Given the description of an element on the screen output the (x, y) to click on. 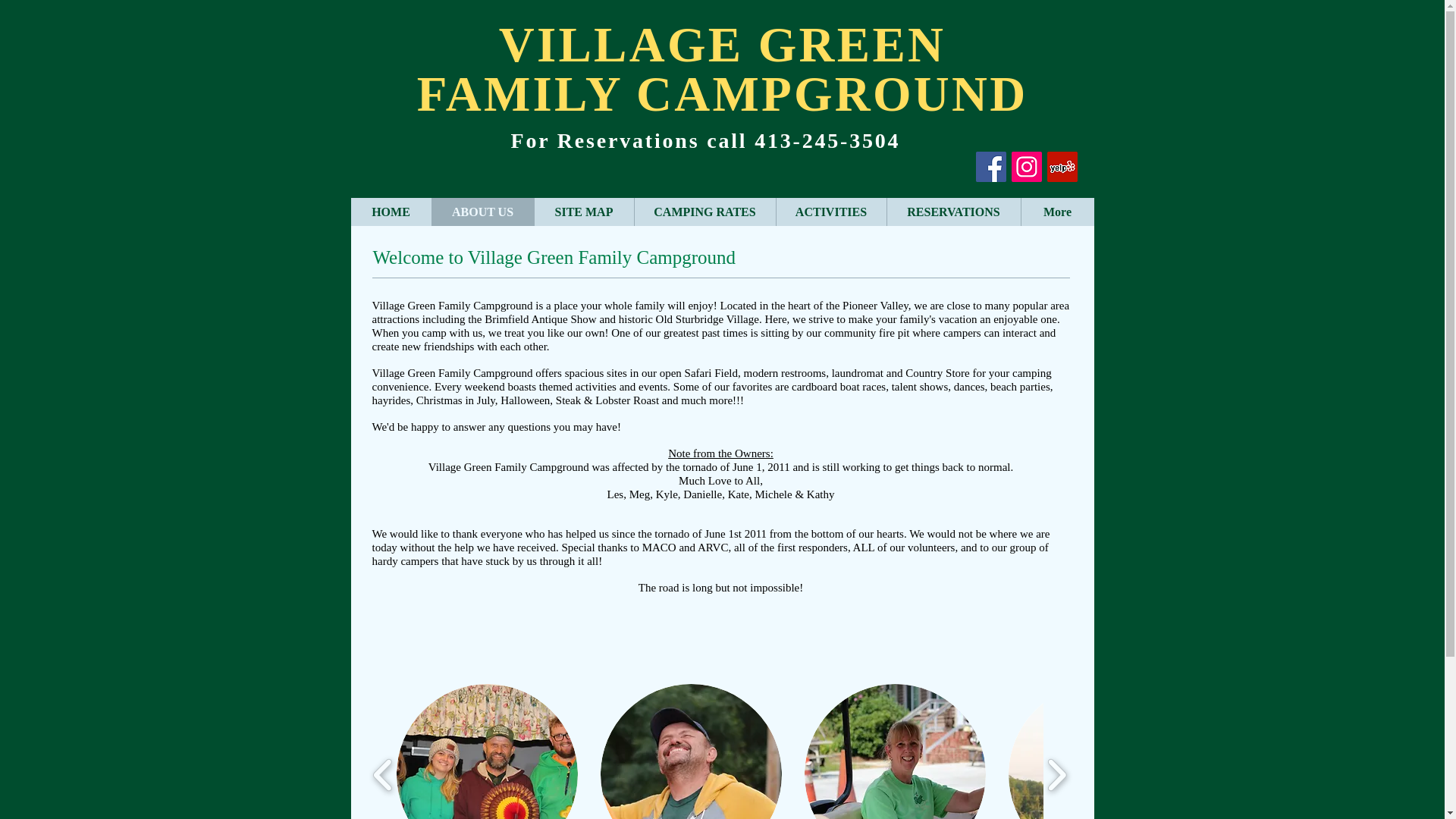
FAMILY CAMPGROUND (721, 93)
VILLAGE GREEN (721, 44)
HOME (390, 212)
SITE MAP (583, 212)
ACTIVITIES (829, 212)
CAMPING RATES (704, 212)
ABOUT US (481, 212)
RESERVATIONS (952, 212)
